Given the description of an element on the screen output the (x, y) to click on. 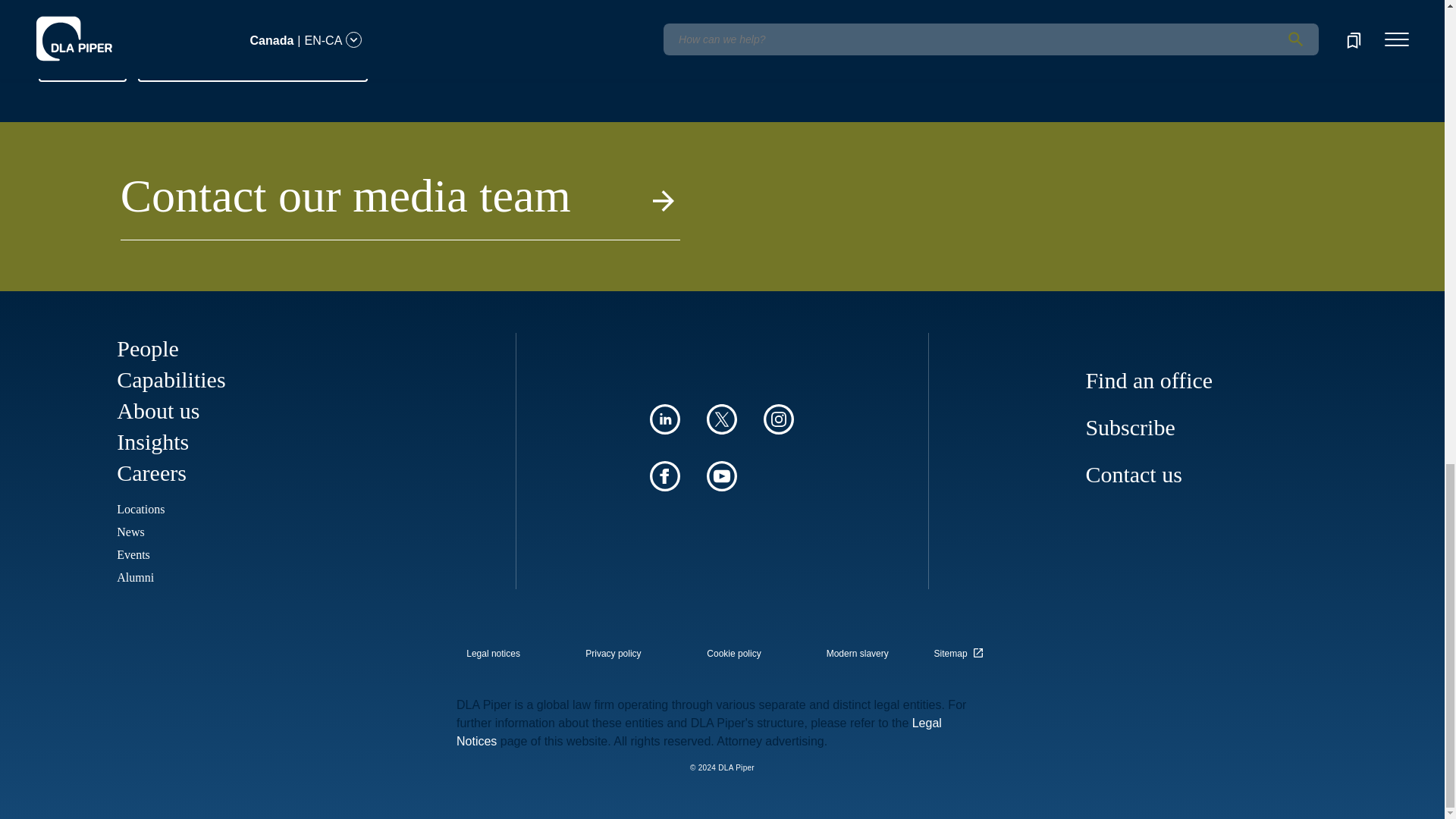
internal (612, 653)
internal (734, 653)
internal (857, 653)
external (960, 649)
internal (493, 653)
